Given the description of an element on the screen output the (x, y) to click on. 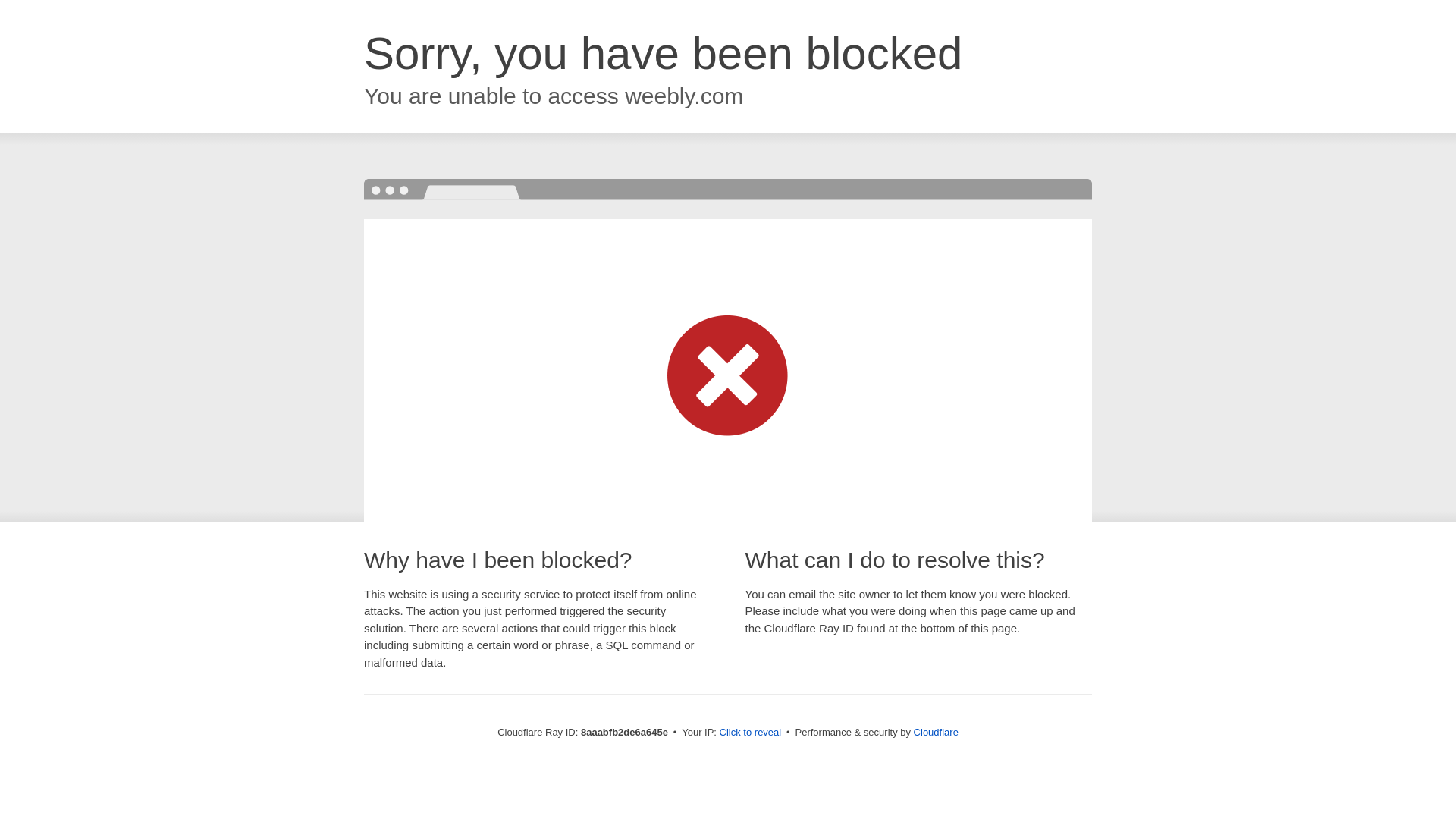
Cloudflare (936, 731)
Click to reveal (750, 732)
